Given the description of an element on the screen output the (x, y) to click on. 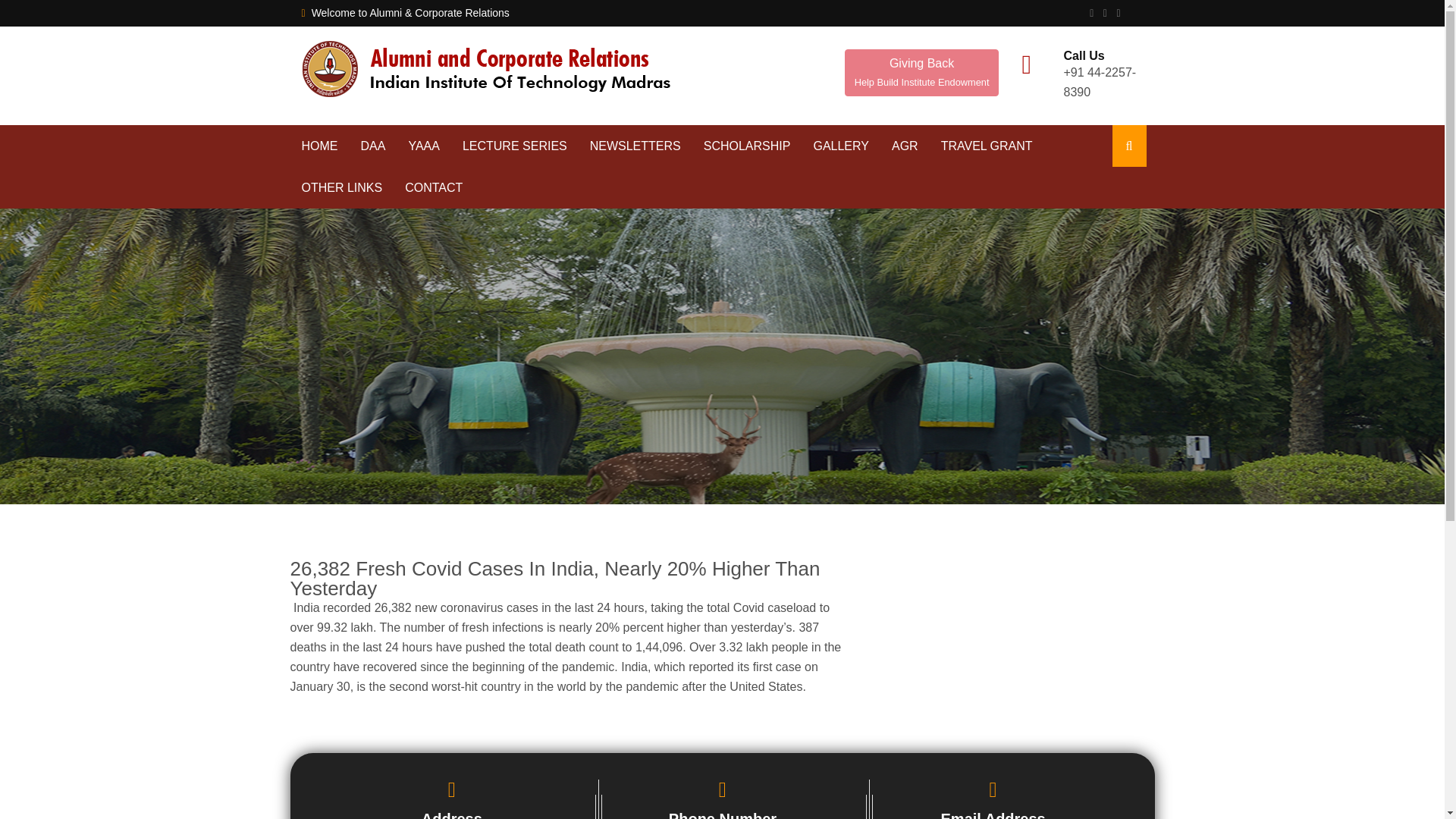
GALLERY (921, 72)
NEWSLETTERS (921, 71)
LECTURE SERIES (840, 146)
SCHOLARSHIP (635, 146)
